Given the description of an element on the screen output the (x, y) to click on. 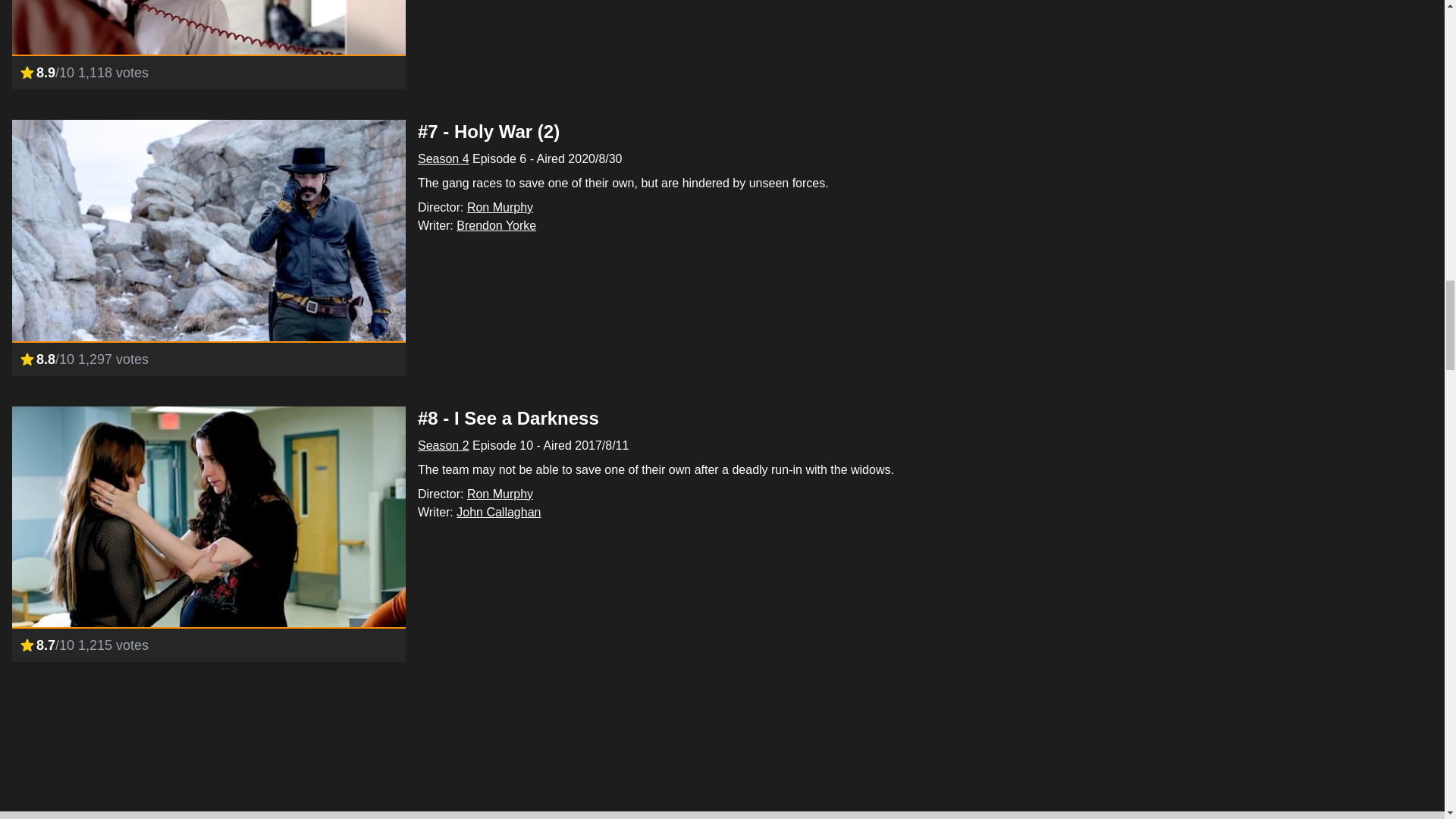
Brendon Yorke (496, 225)
Ron Murphy (499, 206)
Season 4 (442, 158)
